Given the description of an element on the screen output the (x, y) to click on. 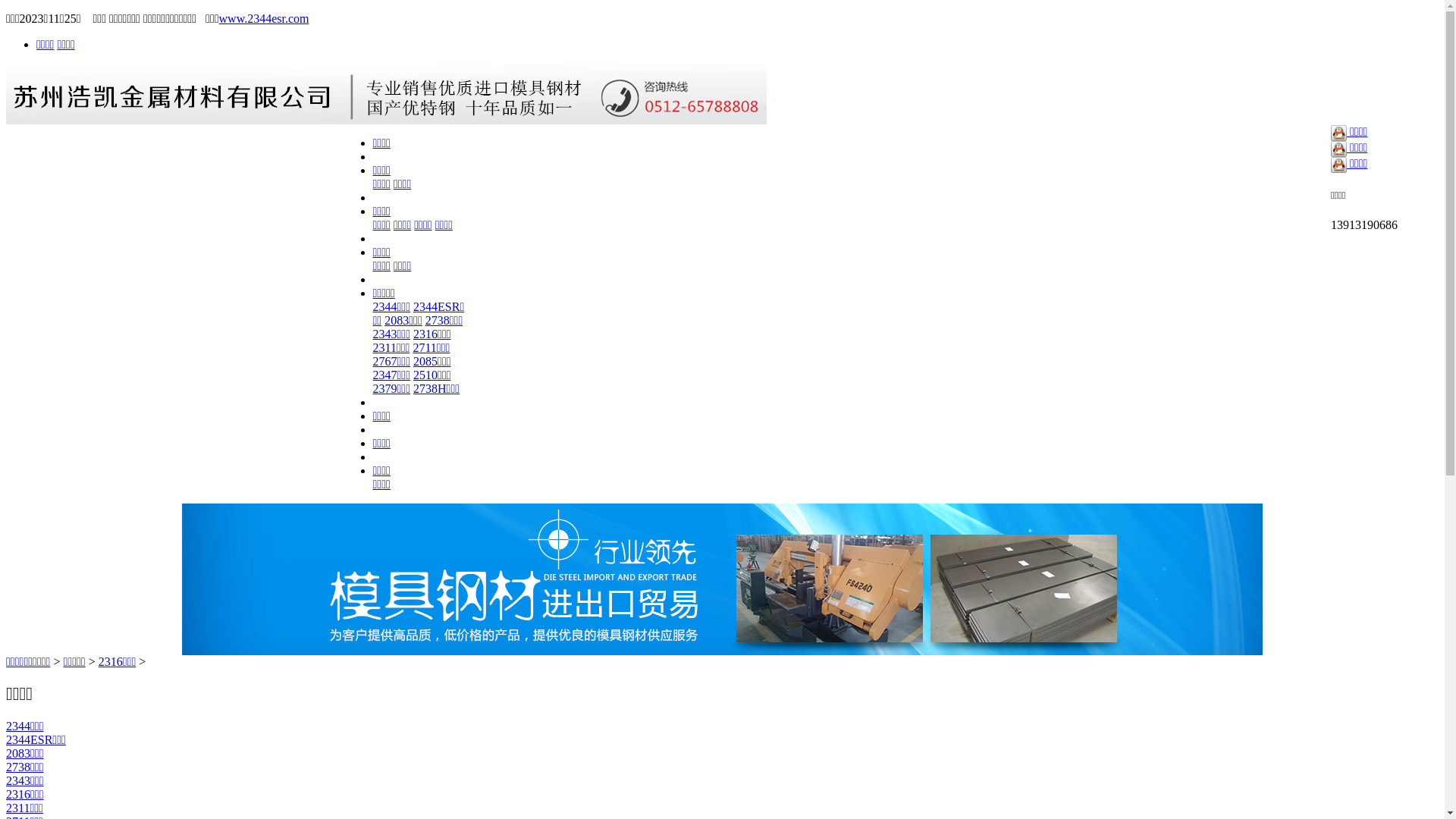
www.2344esr.com Element type: text (264, 18)
